Given the description of an element on the screen output the (x, y) to click on. 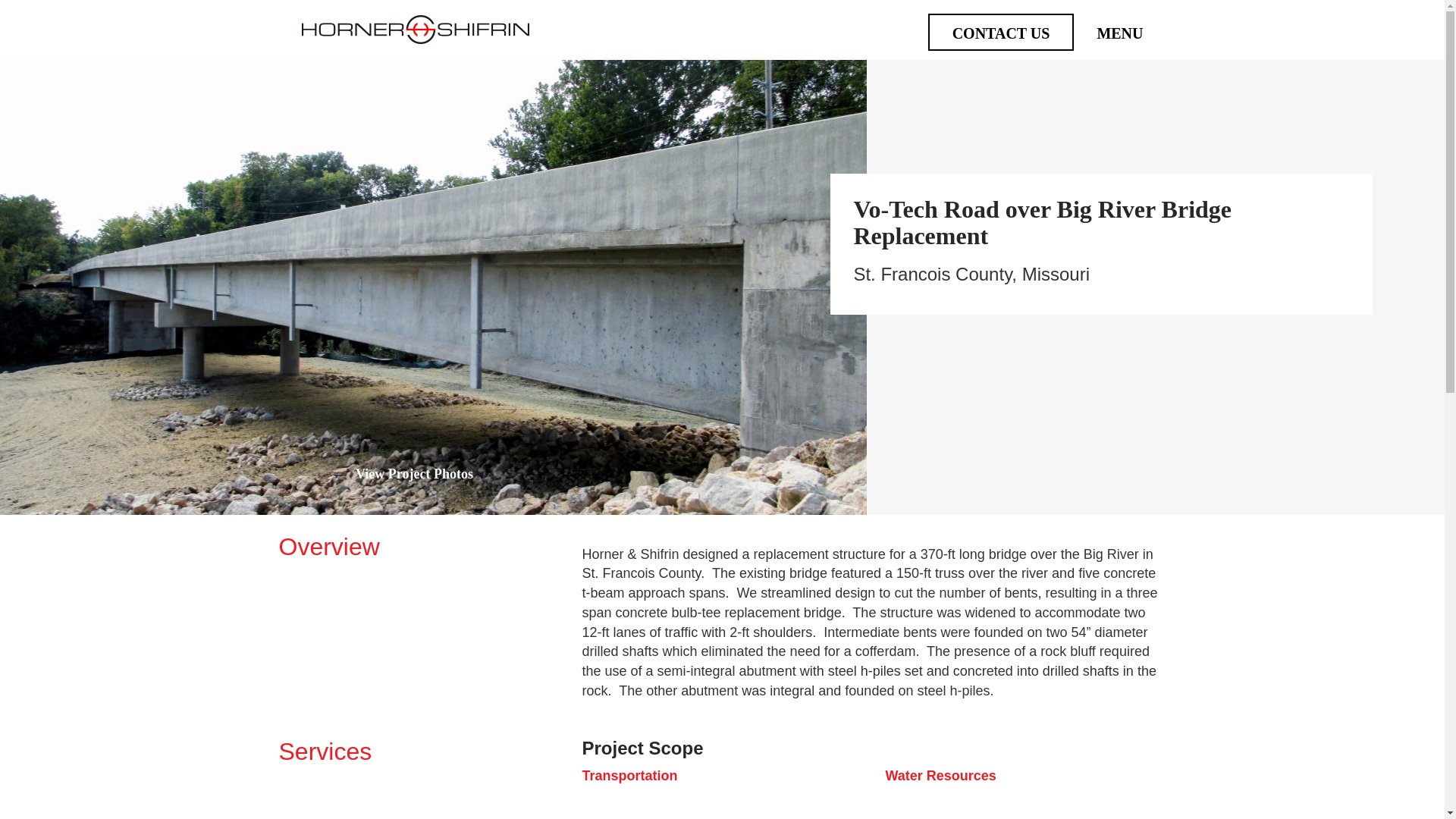
View Project Photos (433, 474)
Water Resources (940, 775)
Transportation (628, 775)
CONTACT US (1000, 33)
MENU (1119, 33)
